Given the description of an element on the screen output the (x, y) to click on. 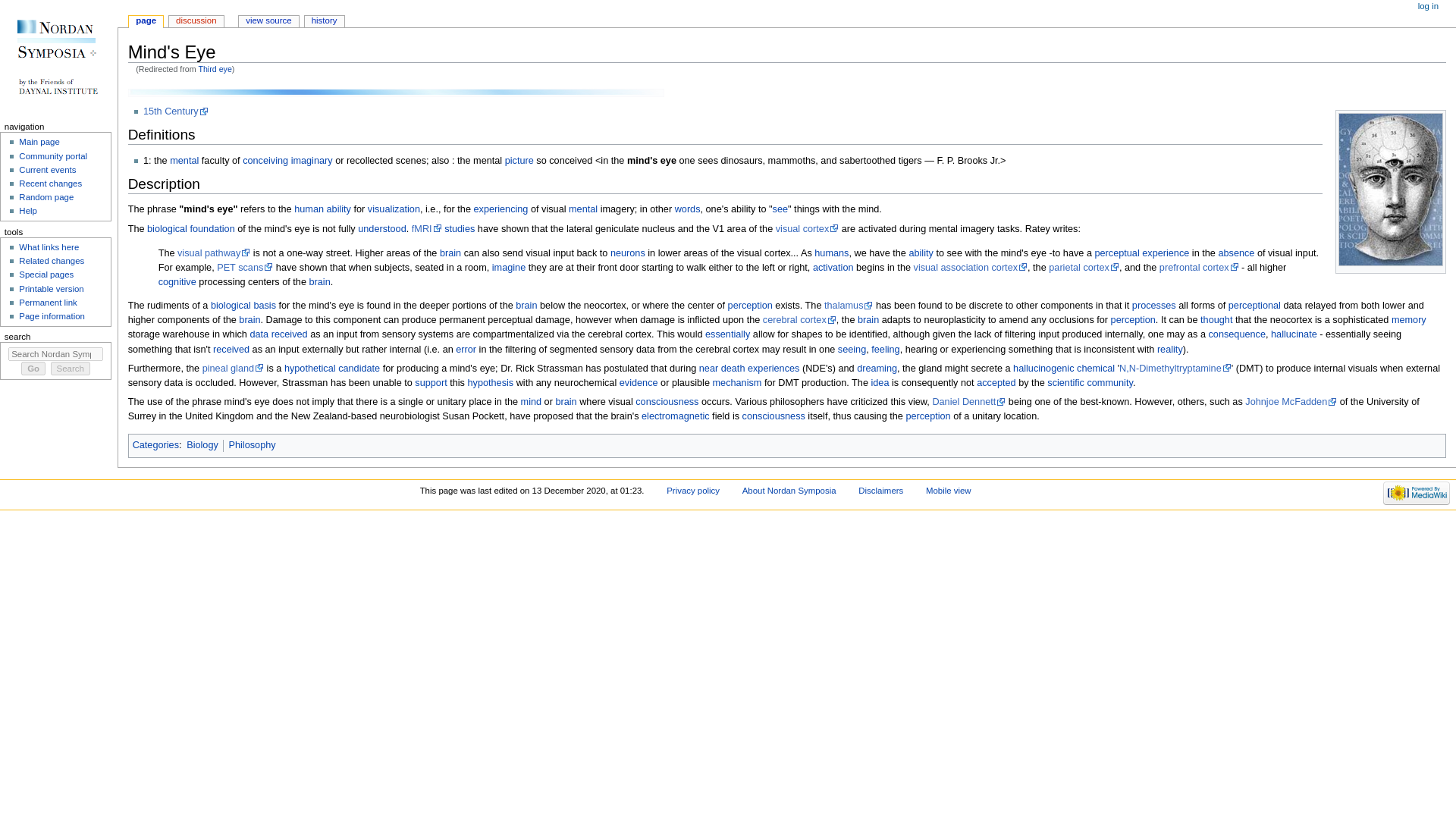
parietal cortex (1083, 267)
PET scans (244, 267)
mental (184, 160)
Search (70, 368)
experience (1165, 253)
ability (338, 208)
Third eye (214, 68)
Conceiving (265, 160)
mental (582, 208)
Experiencing (500, 208)
